Given the description of an element on the screen output the (x, y) to click on. 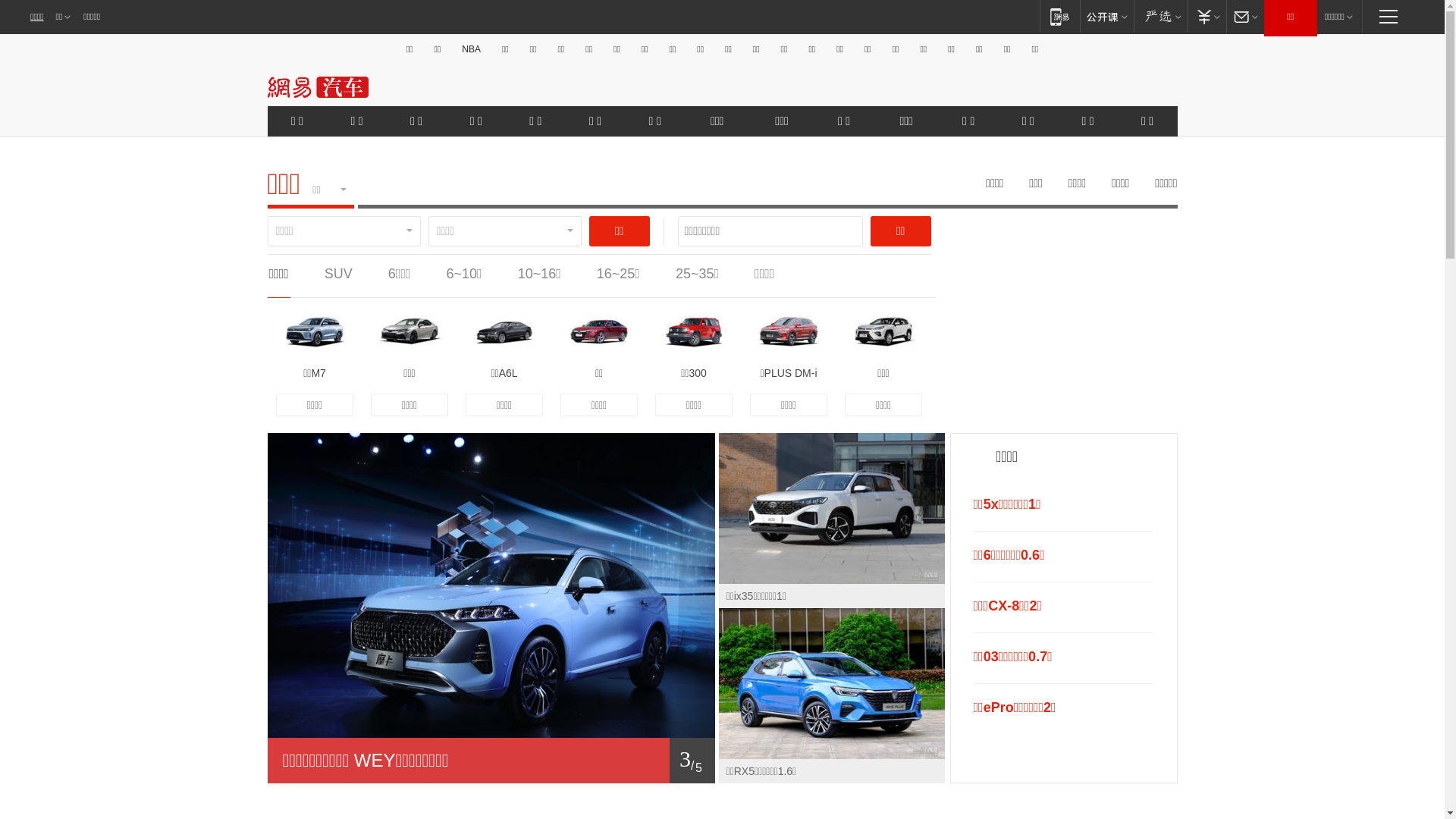
SUV Element type: text (338, 273)
NBA Element type: text (471, 48)
1/ 5 Element type: text (490, 760)
